Given the description of an element on the screen output the (x, y) to click on. 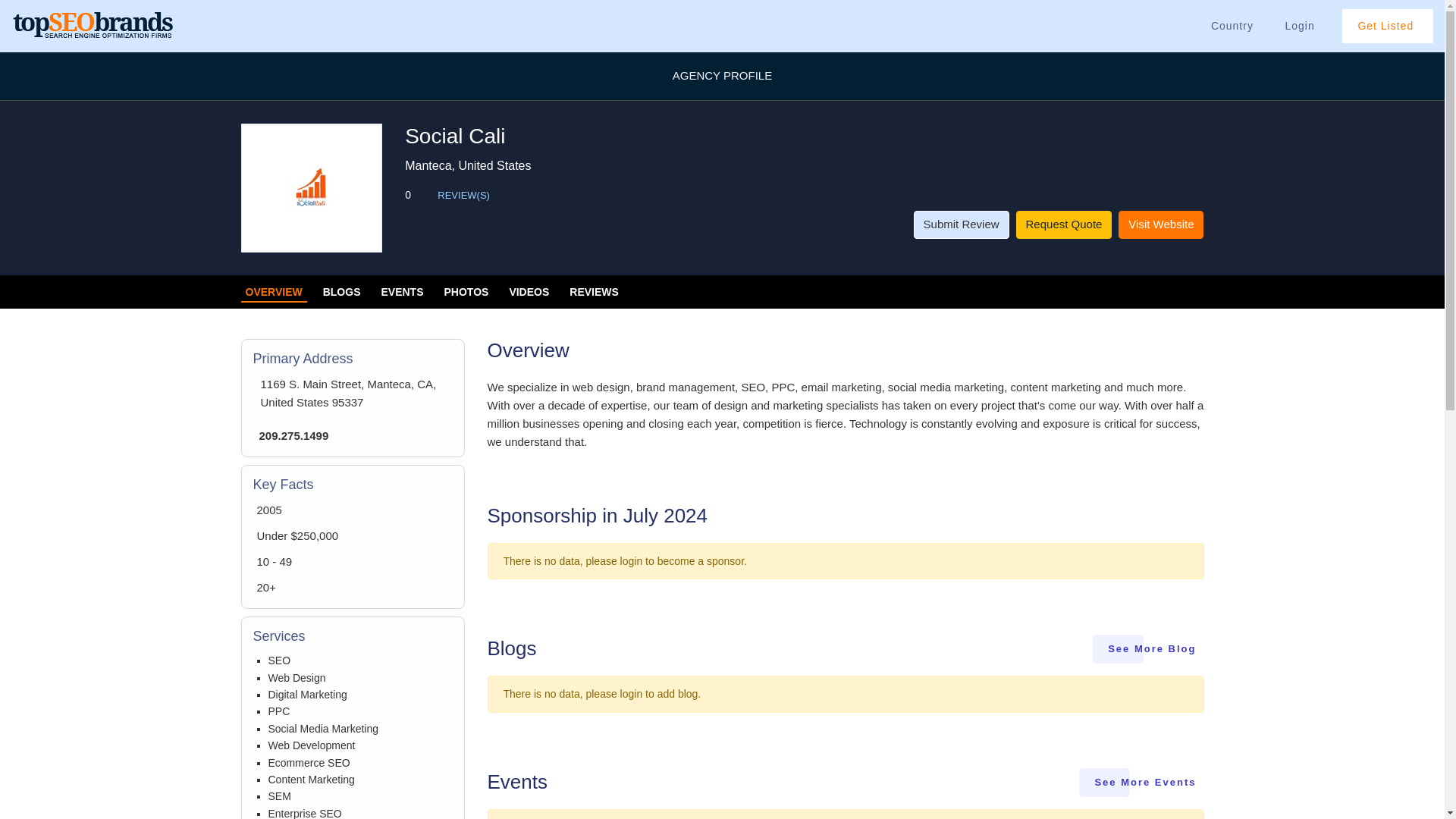
There is no data, please login to become a sponsor. (845, 566)
Country (1232, 26)
